Given the description of an element on the screen output the (x, y) to click on. 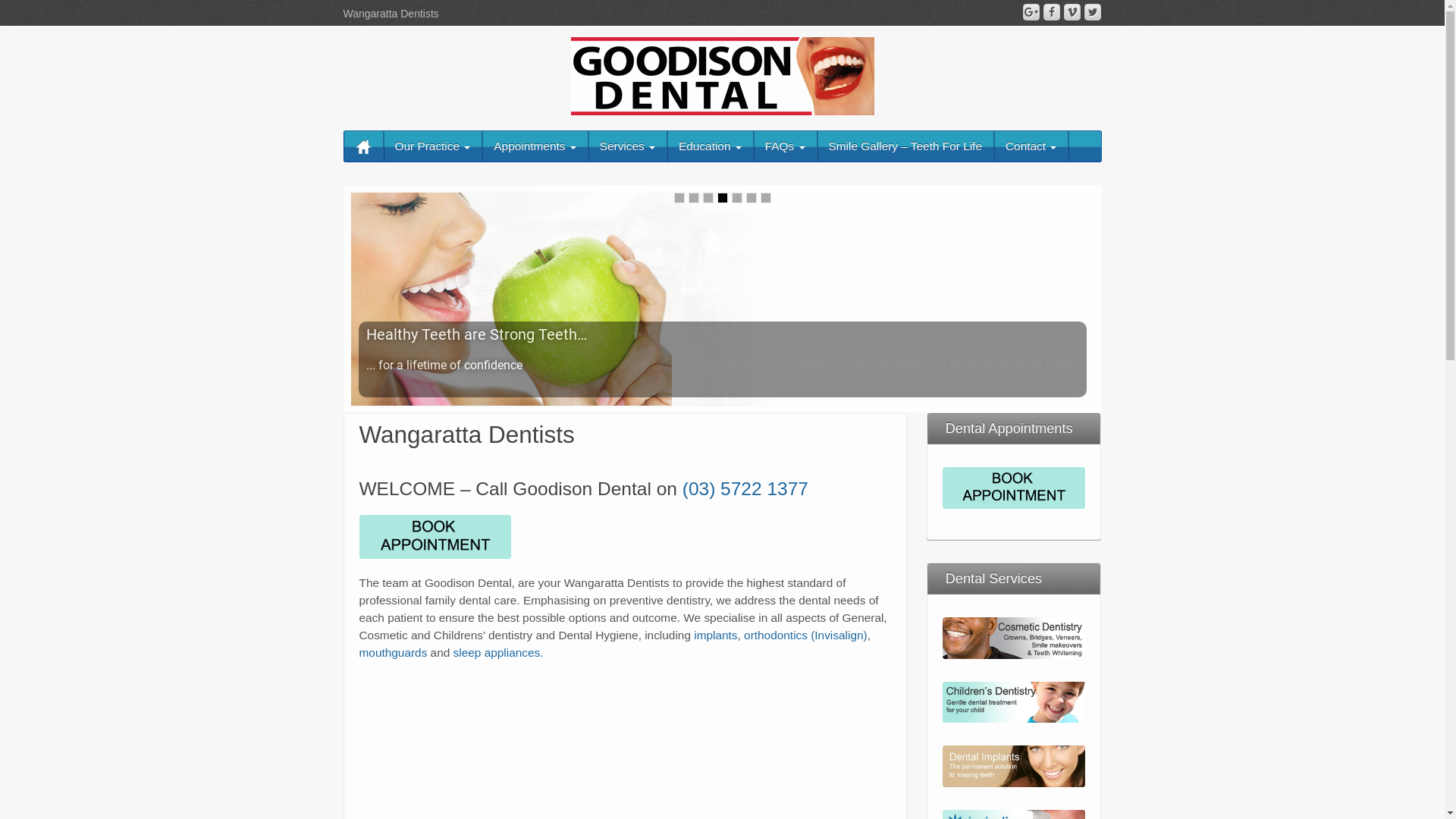
Goodison Dental Facebook Element type: hover (1051, 11)
Our Practice Element type: text (432, 146)
FAQs Element type: text (784, 146)
Goodison Dental Twitter Element type: hover (1092, 11)
orthodontics (Invisalign) Element type: text (805, 634)
(03) 5722 1377 Element type: text (745, 488)
Make An Appointment Element type: hover (1013, 486)
Contact Element type: text (1030, 146)
Goodison Dental Element type: hover (721, 75)
. Element type: text (540, 652)
Services Element type: text (627, 146)
Appointments Element type: text (534, 146)
implants Element type: text (715, 634)
Dental Implants Element type: hover (1013, 765)
Children's Dentistry Element type: hover (1013, 701)
Goodison Dental Vimeo Element type: hover (1071, 11)
mouthguards Element type: text (393, 652)
Goodison Dental Googleplus Element type: hover (1030, 11)
sleep appliances Element type: text (496, 652)
Education Element type: text (710, 146)
